Given the description of an element on the screen output the (x, y) to click on. 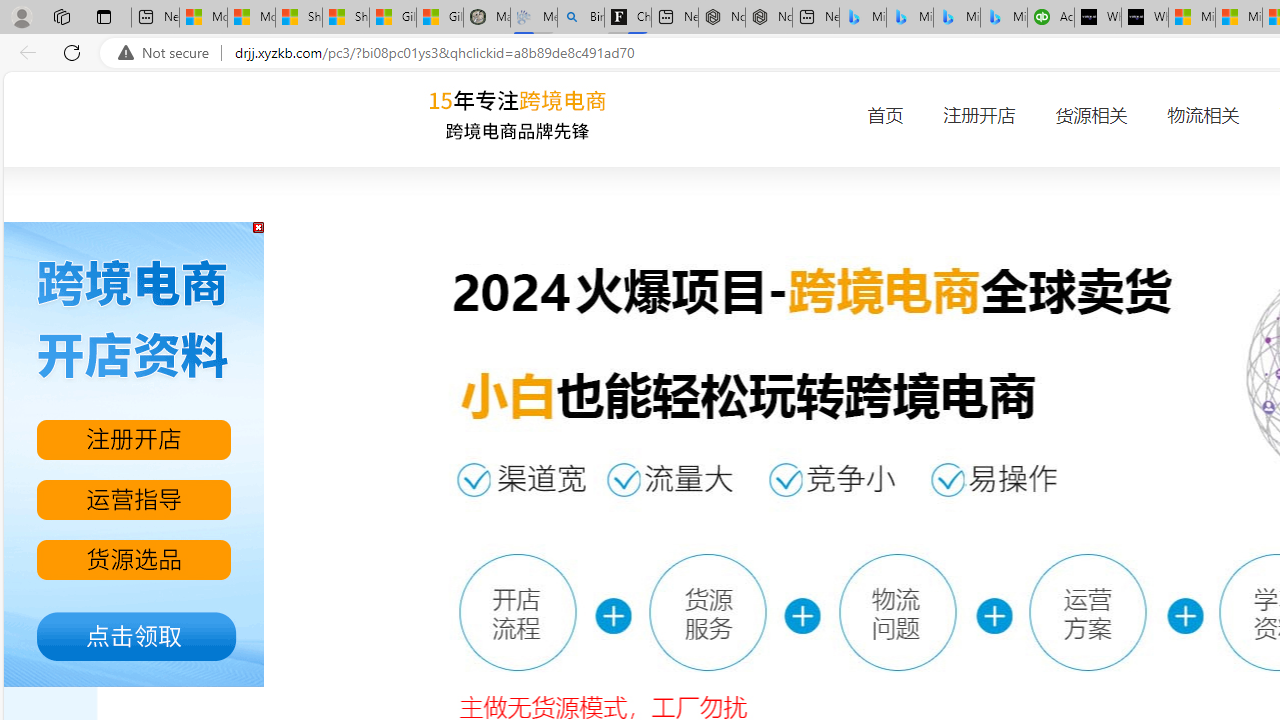
Bing Real Estate - Home sales and rental listings (581, 17)
Class: logo (520, 116)
Microsoft Bing Travel - Stays in Bangkok, Bangkok, Thailand (910, 17)
